Given the description of an element on the screen output the (x, y) to click on. 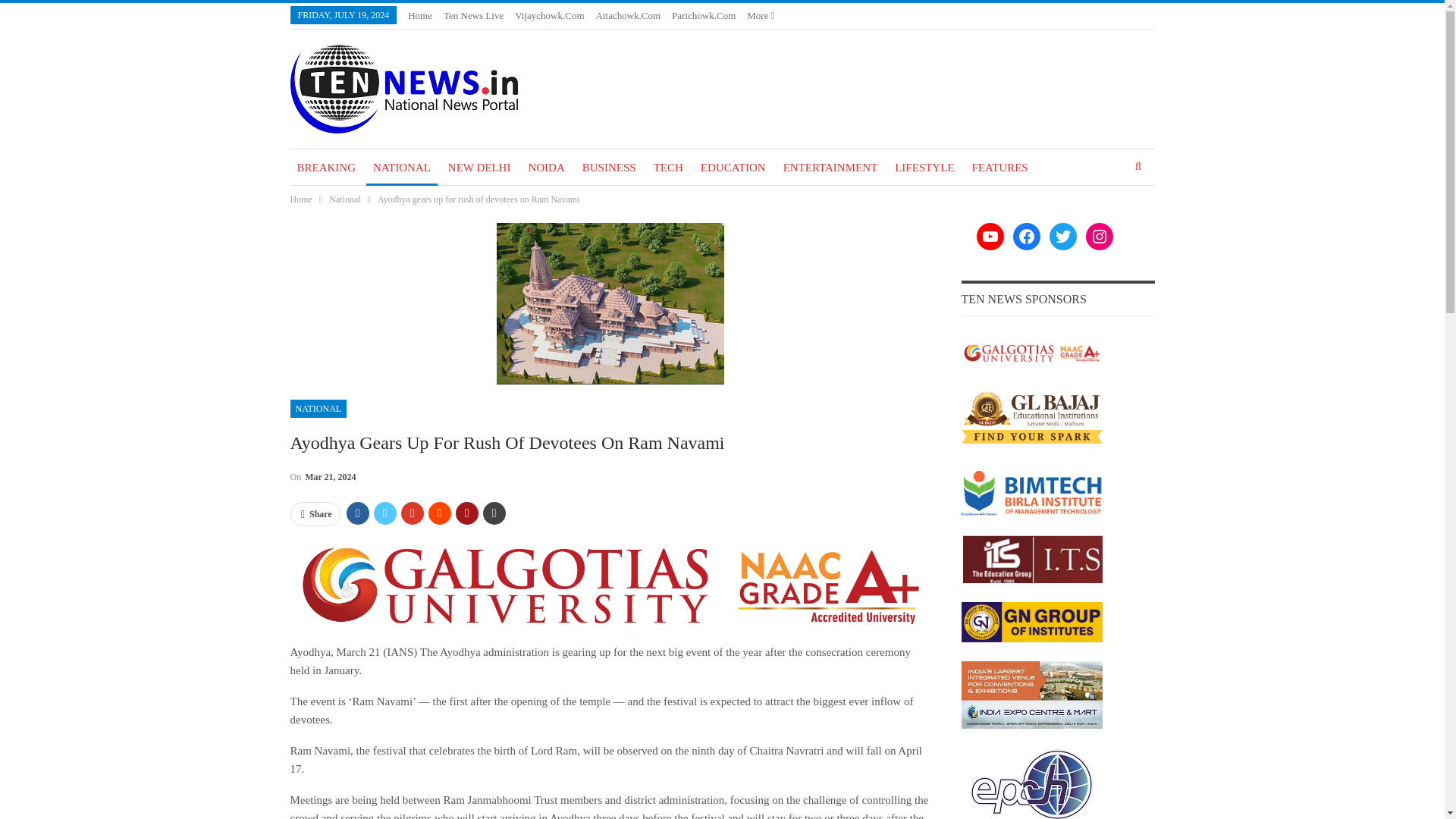
ENTERTAINMENT (830, 167)
TECH (668, 167)
More (760, 15)
NOIDA (545, 167)
Home (419, 15)
Vijaychowk.Com (549, 15)
FEATURES (1000, 167)
Parichowk.Com (703, 15)
National (344, 199)
NATIONAL (317, 408)
EDUCATION (733, 167)
NEW DELHI (479, 167)
LIFESTYLE (924, 167)
BUSINESS (609, 167)
NATIONAL (402, 167)
